Given the description of an element on the screen output the (x, y) to click on. 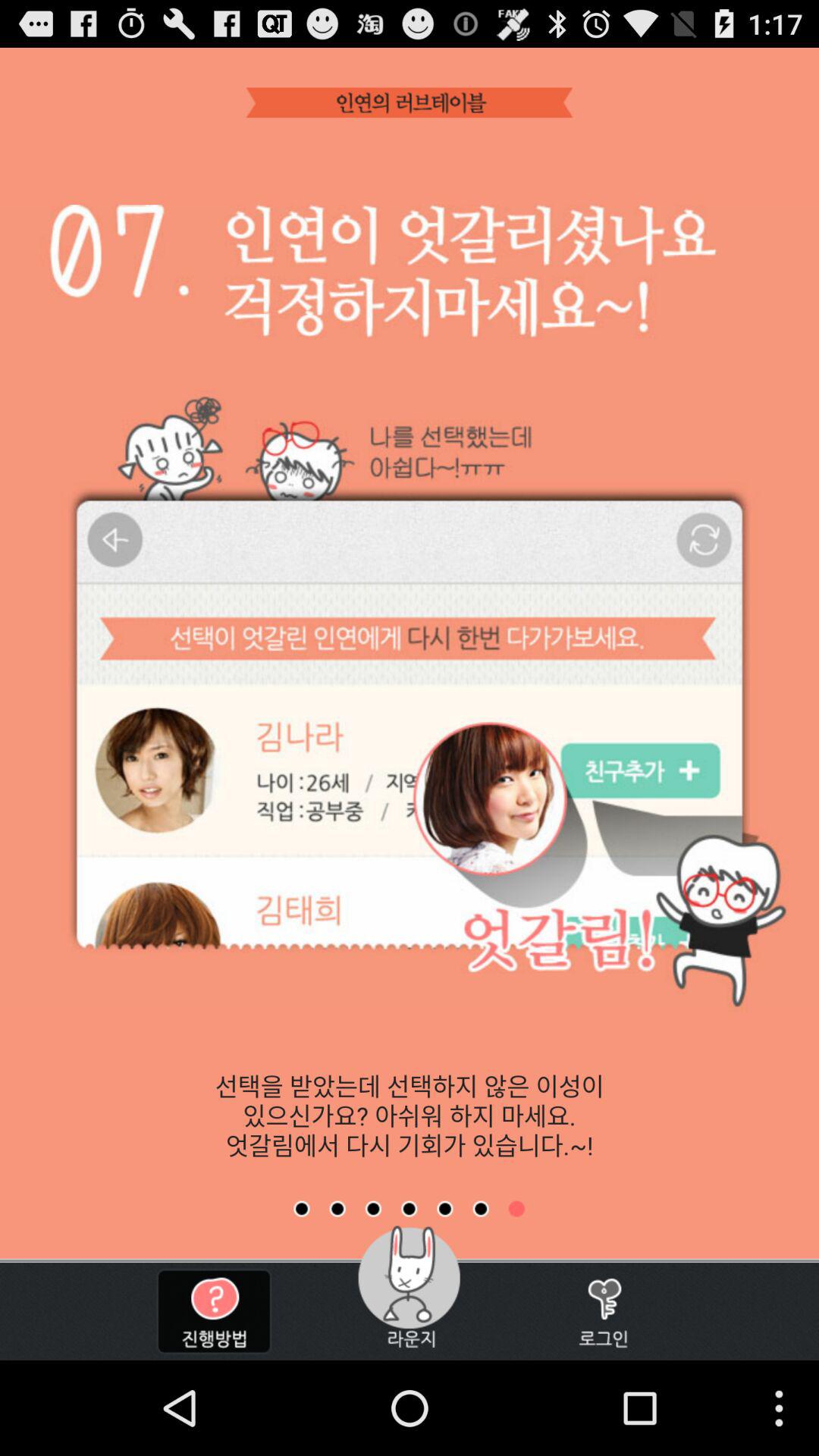
go to the fifth page (445, 1208)
